Given the description of an element on the screen output the (x, y) to click on. 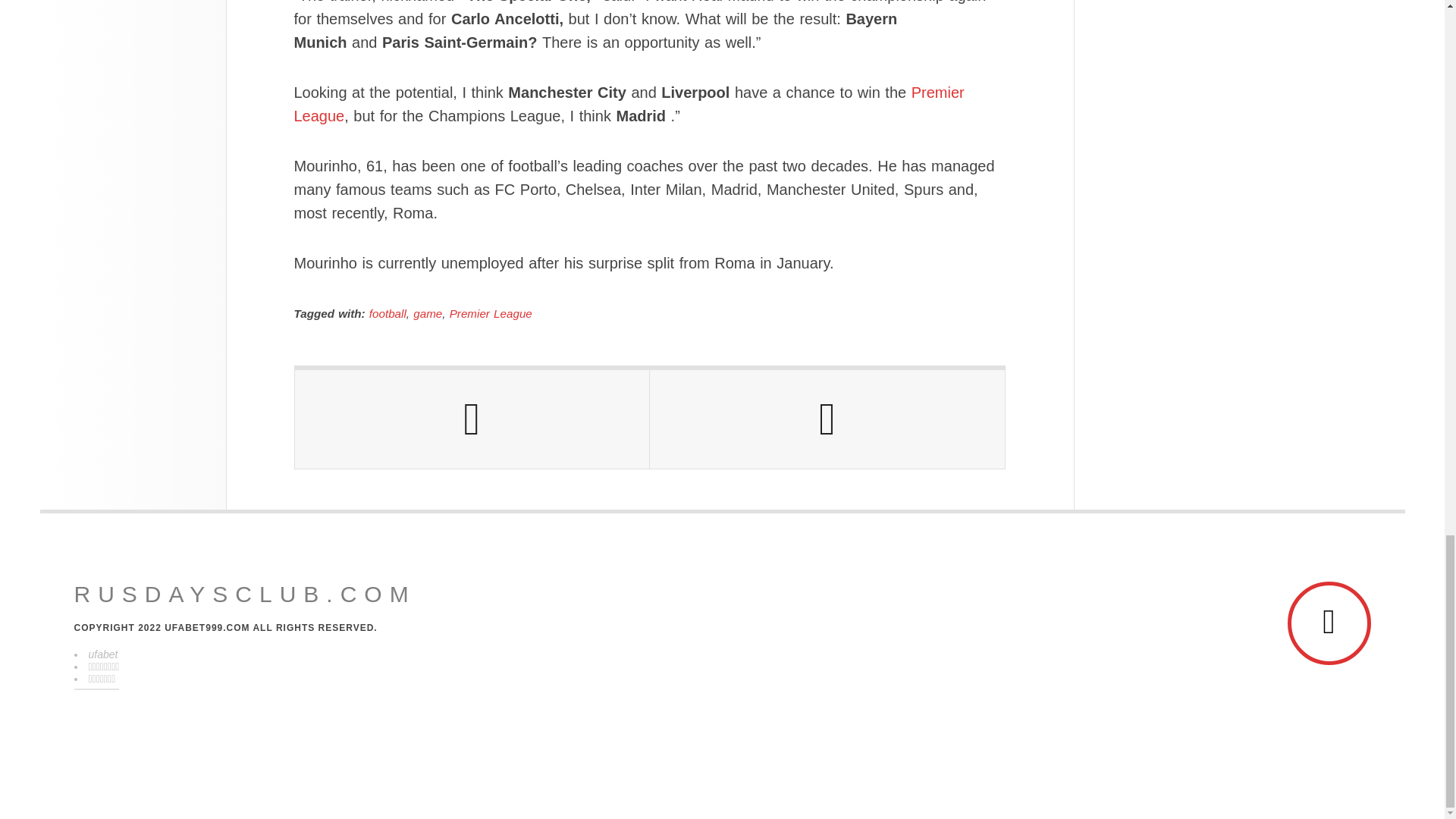
ufabet (102, 654)
Premier League (490, 313)
football (387, 313)
game (427, 313)
RUSDAYSCLUB.COM (245, 594)
Premier League (628, 104)
Next Post (826, 419)
Previous Post (471, 419)
rusdaysclub.com (245, 594)
